Given the description of an element on the screen output the (x, y) to click on. 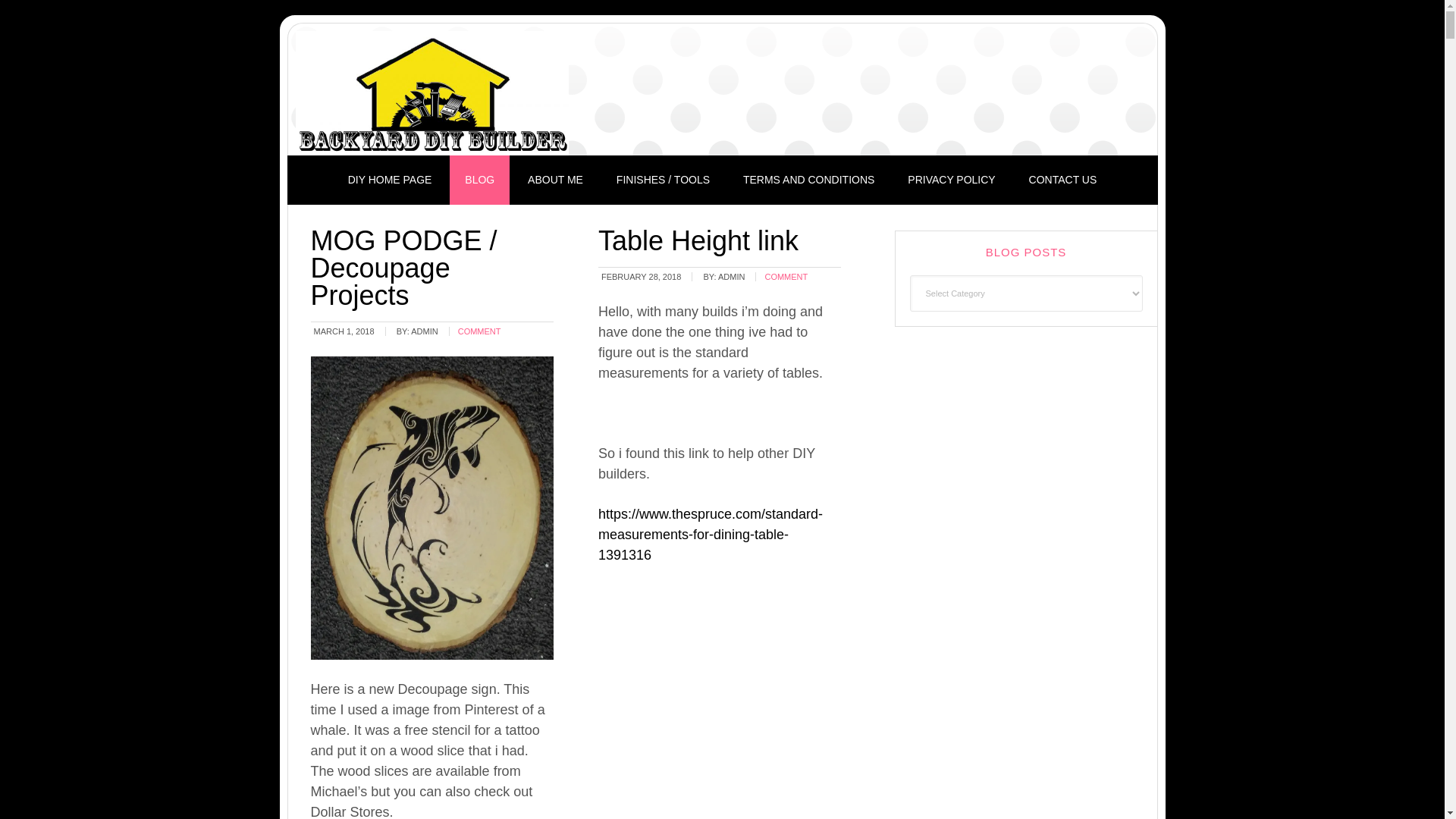
COMMENT (479, 330)
CONTACT US (1062, 179)
BackYard DIY Builder (432, 93)
DIY HOME PAGE (389, 179)
Table Height link (697, 240)
BLOG (479, 179)
ABOUT ME (555, 179)
COMMENT (786, 276)
TERMS AND CONDITIONS (808, 179)
PRIVACY POLICY (951, 179)
